Given the description of an element on the screen output the (x, y) to click on. 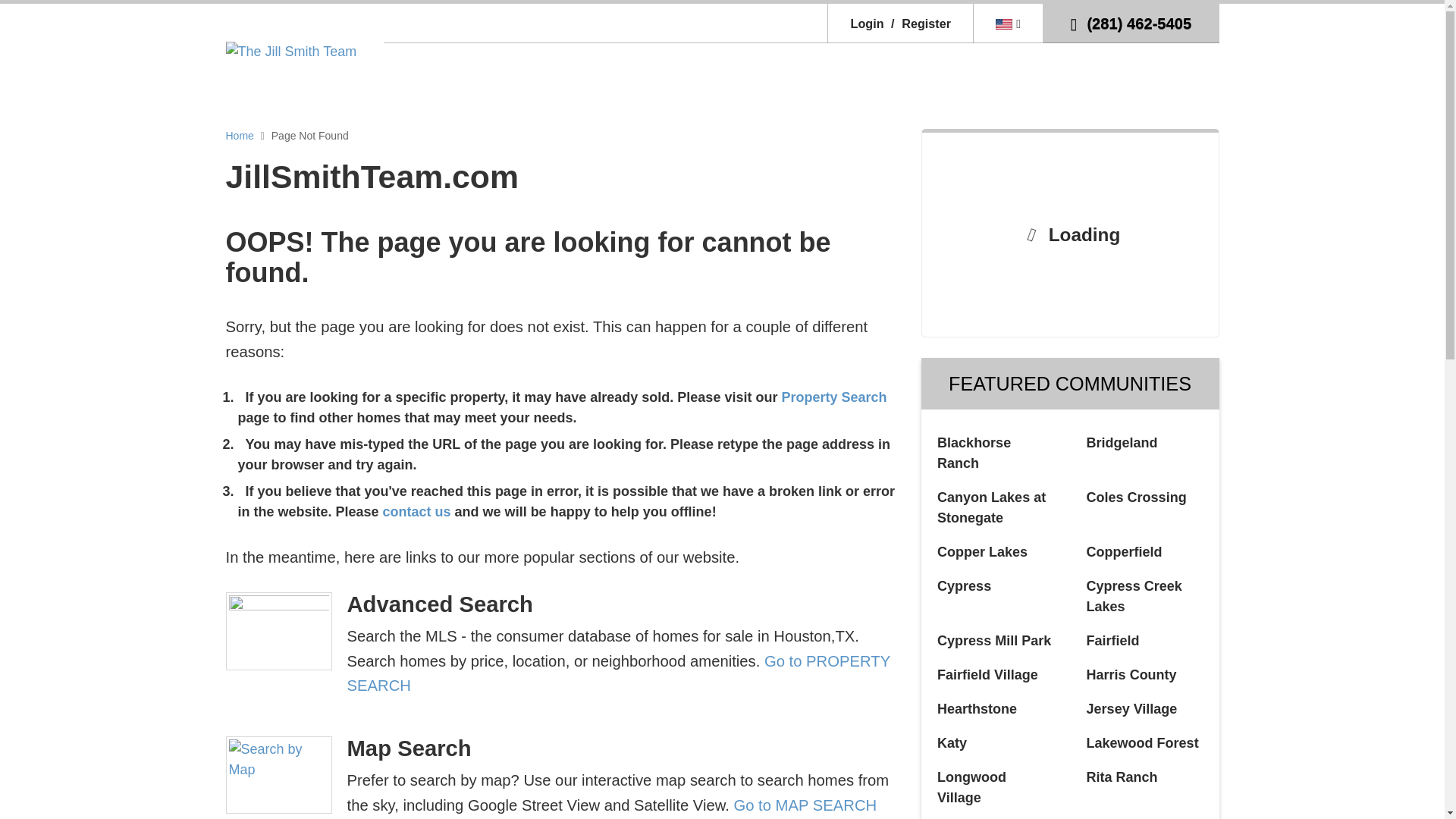
Search by map (278, 775)
Search the MLS by Map (804, 805)
Search the MLS (618, 672)
Contact Us (418, 510)
Register (918, 23)
Login (866, 23)
Search the MLS (833, 396)
Home Page (290, 50)
Select Language (1008, 23)
